Given the description of an element on the screen output the (x, y) to click on. 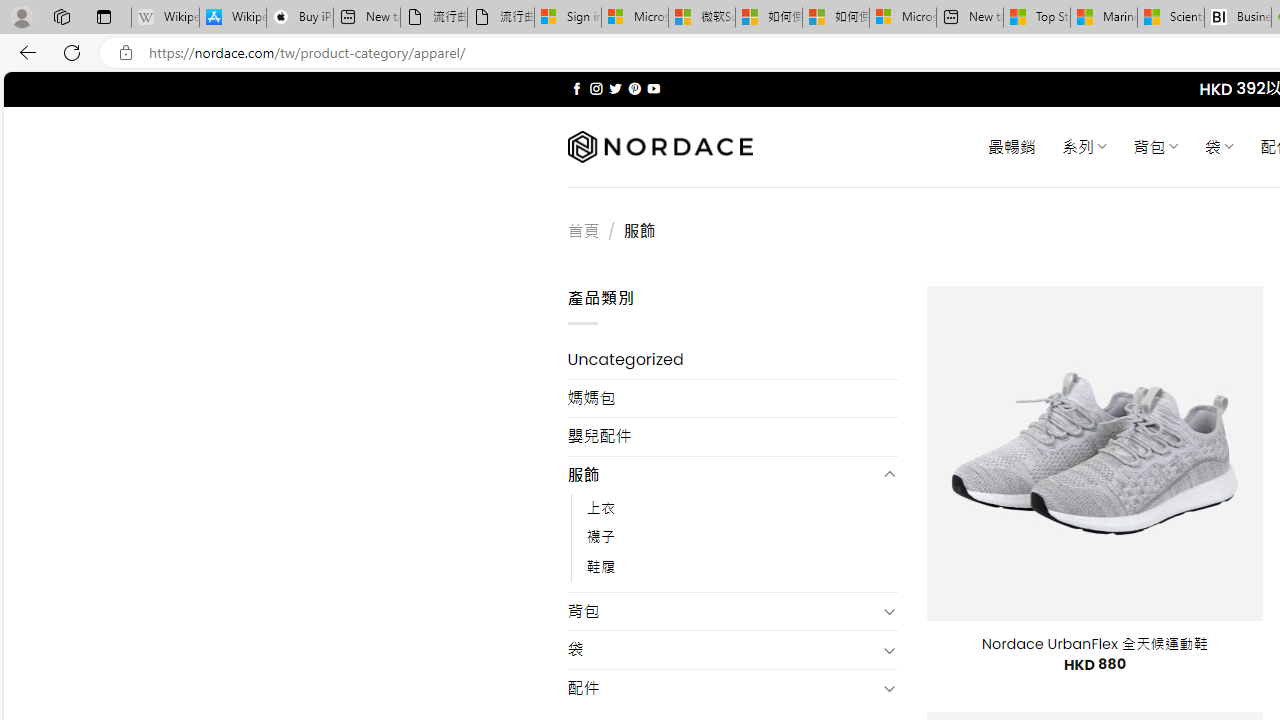
Microsoft account | Account Checkup (902, 17)
Follow on YouTube (653, 88)
